Given the description of an element on the screen output the (x, y) to click on. 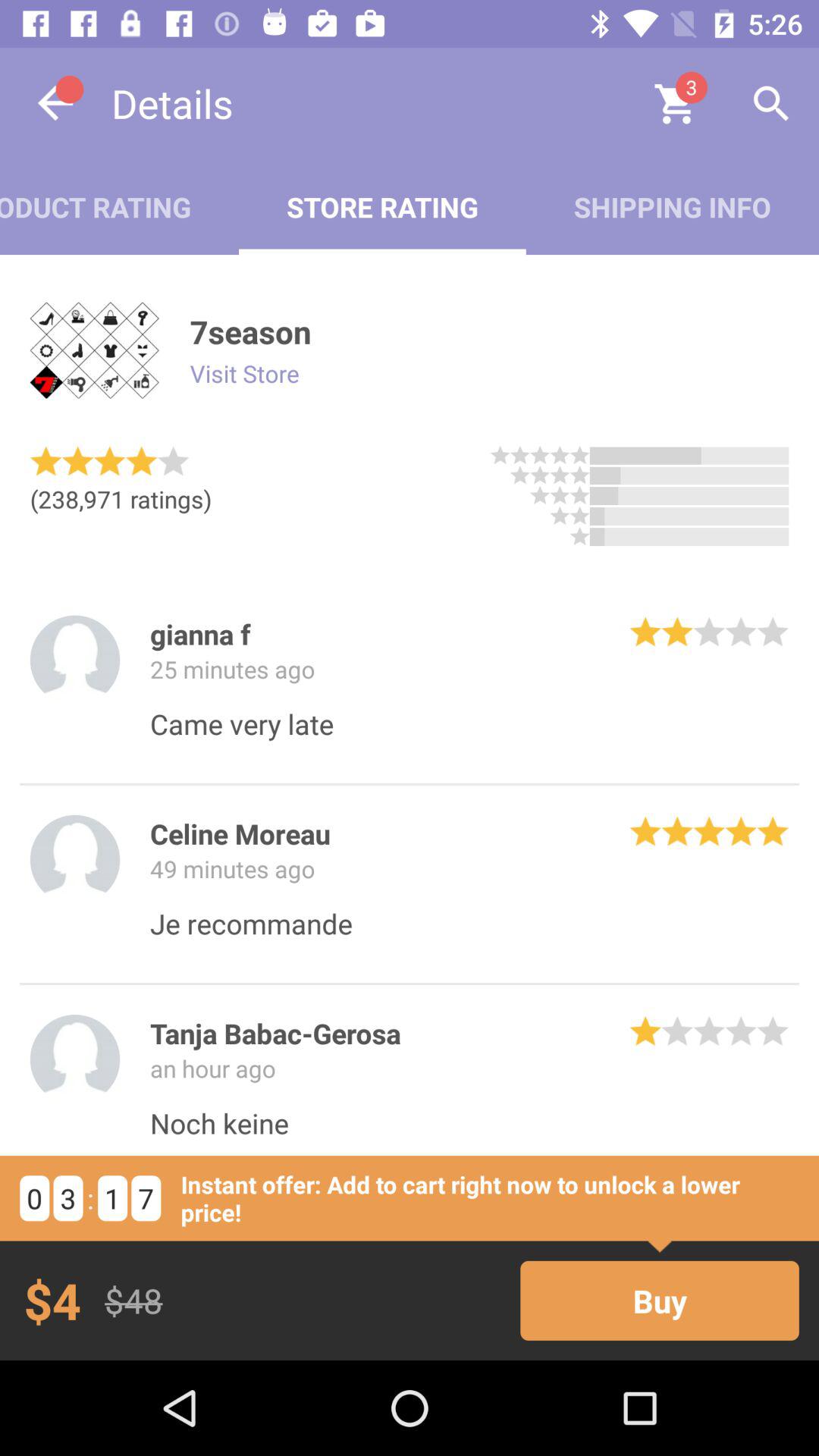
tap item to the left of details (55, 103)
